Given the description of an element on the screen output the (x, y) to click on. 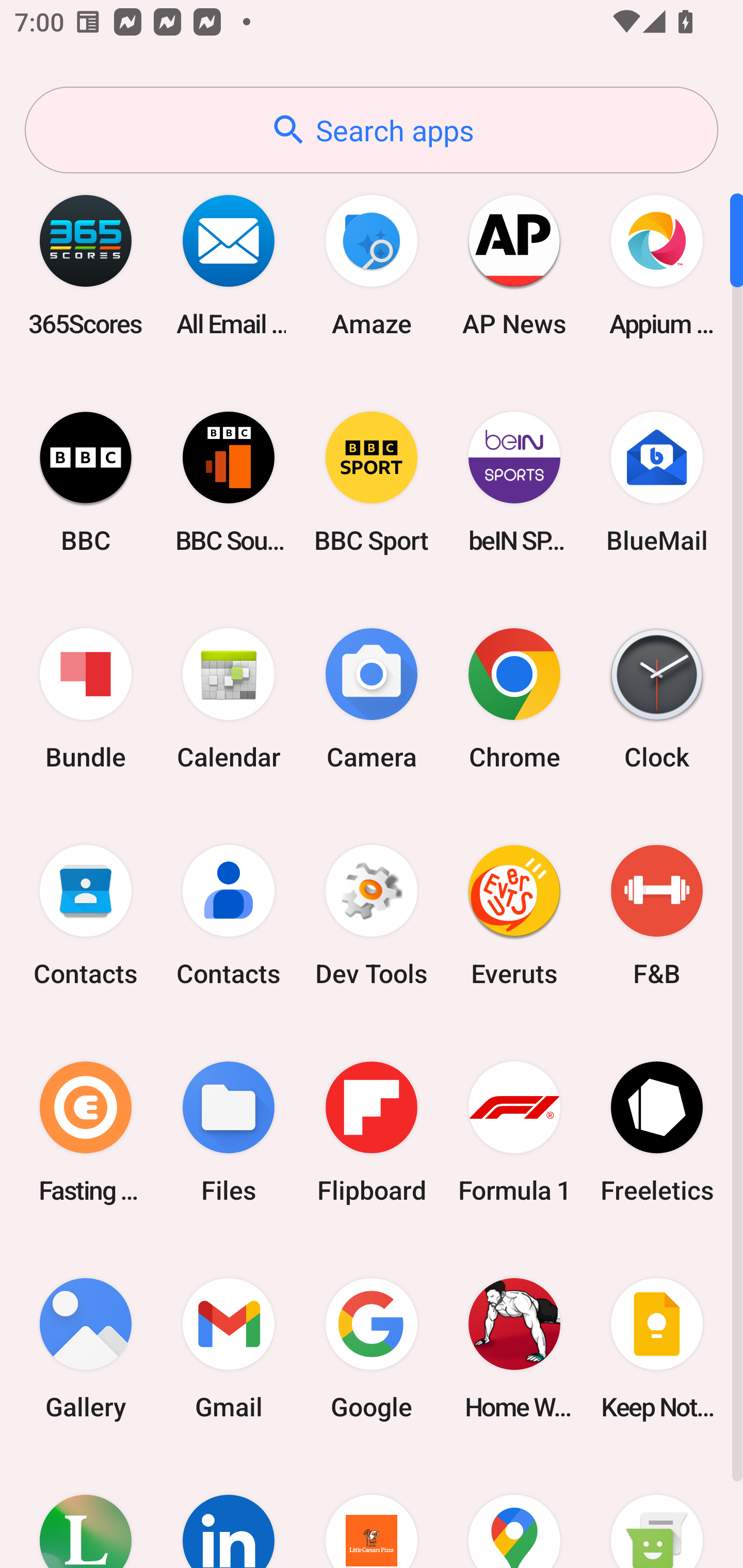
  Search apps (371, 130)
365Scores (85, 264)
All Email Connect (228, 264)
Amaze (371, 264)
AP News (514, 264)
Appium Settings (656, 264)
BBC (85, 482)
BBC Sounds (228, 482)
BBC Sport (371, 482)
beIN SPORTS (514, 482)
BlueMail (656, 482)
Bundle (85, 699)
Calendar (228, 699)
Camera (371, 699)
Chrome (514, 699)
Clock (656, 699)
Contacts (85, 915)
Contacts (228, 915)
Dev Tools (371, 915)
Everuts (514, 915)
F&B (656, 915)
Fasting Coach (85, 1131)
Files (228, 1131)
Flipboard (371, 1131)
Formula 1 (514, 1131)
Freeletics (656, 1131)
Gallery (85, 1348)
Gmail (228, 1348)
Google (371, 1348)
Home Workout (514, 1348)
Keep Notes (656, 1348)
Lifesum (85, 1512)
LinkedIn (228, 1512)
Little Caesars Pizza (371, 1512)
Maps (514, 1512)
Messaging (656, 1512)
